Given the description of an element on the screen output the (x, y) to click on. 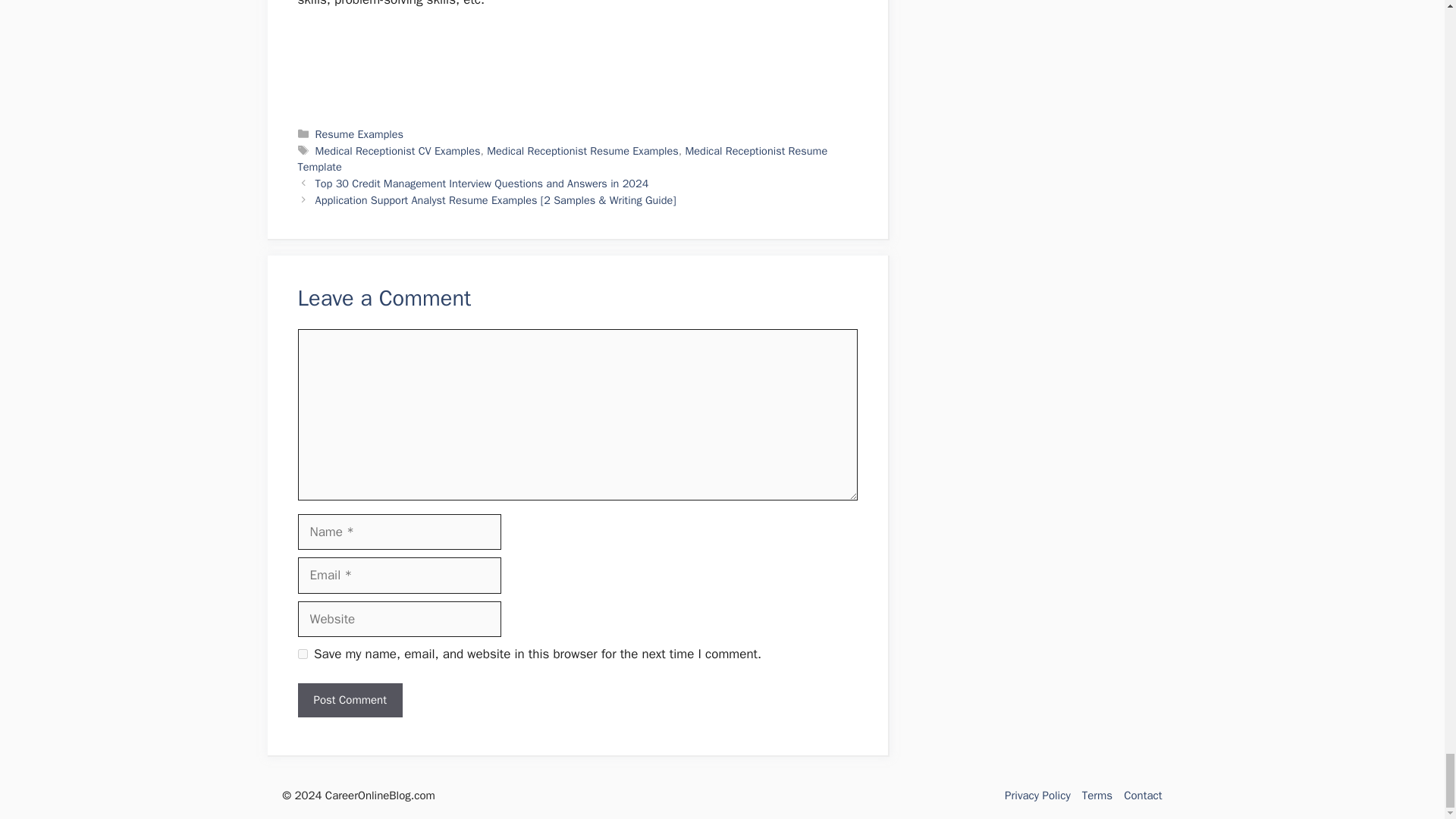
Medical Receptionist CV Examples (397, 151)
Post Comment (349, 700)
Medical Receptionist Resume Template (562, 159)
Terms (1096, 795)
Post Comment (349, 700)
Medical Receptionist Resume Examples (582, 151)
Privacy Policy (1037, 795)
Contact (1142, 795)
yes (302, 654)
Resume Examples (359, 133)
